Given the description of an element on the screen output the (x, y) to click on. 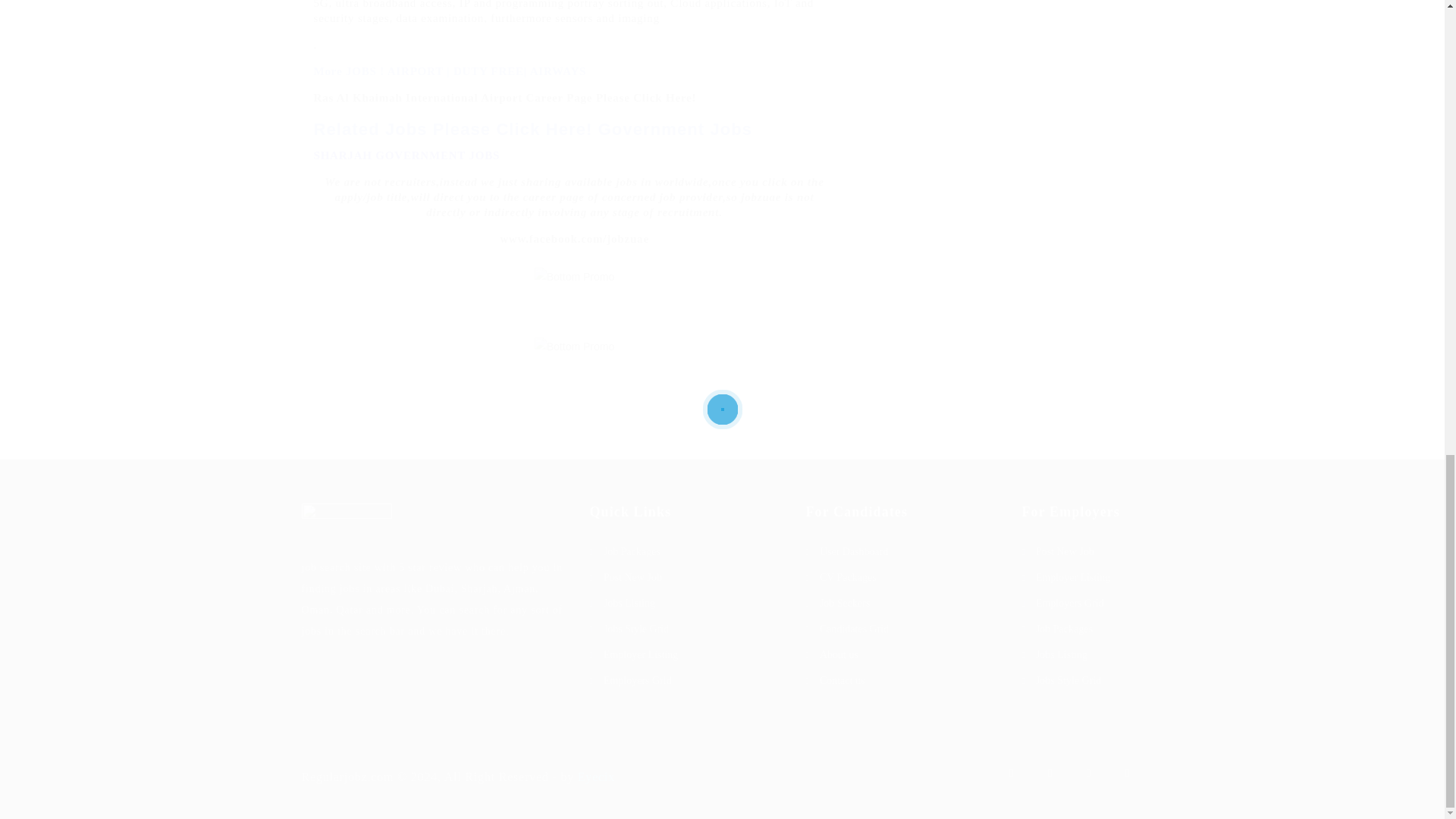
Employer Listing (686, 654)
Job Packages (686, 551)
Jobs Listing (686, 603)
Jobs Style Grid (686, 629)
Related Jobs Please Click Here! Government Jobs (533, 128)
Employers Grid (686, 680)
Post New Job (686, 577)
SHARJAH GOVERNMENT JOBS (407, 155)
